Given the description of an element on the screen output the (x, y) to click on. 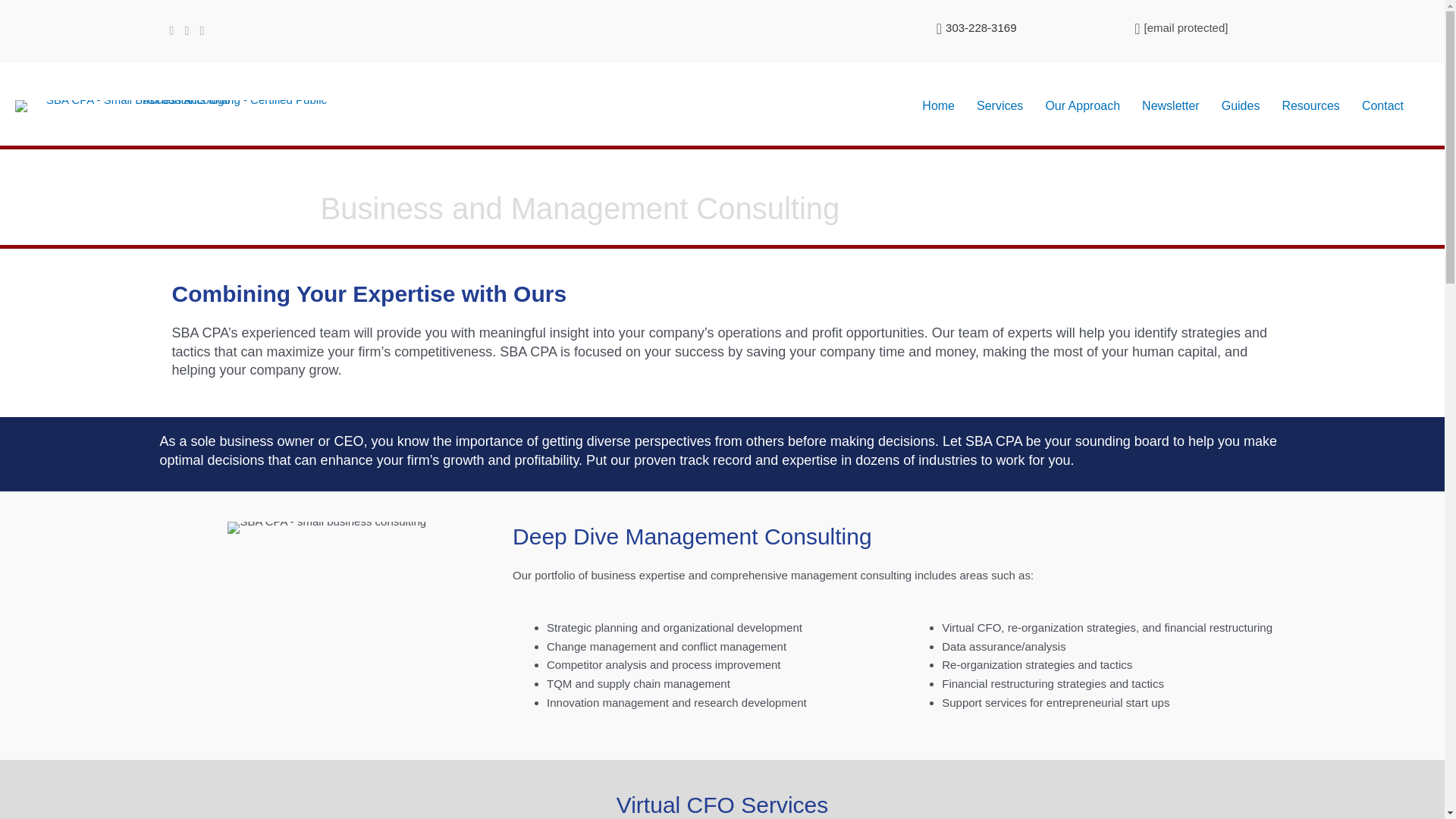
Newsletter (1170, 105)
Services (999, 105)
Home (938, 105)
SBA-CPA-RD-logo (180, 105)
Guides (1241, 105)
303-228-3169 (980, 27)
Our Approach (1082, 105)
